Given the description of an element on the screen output the (x, y) to click on. 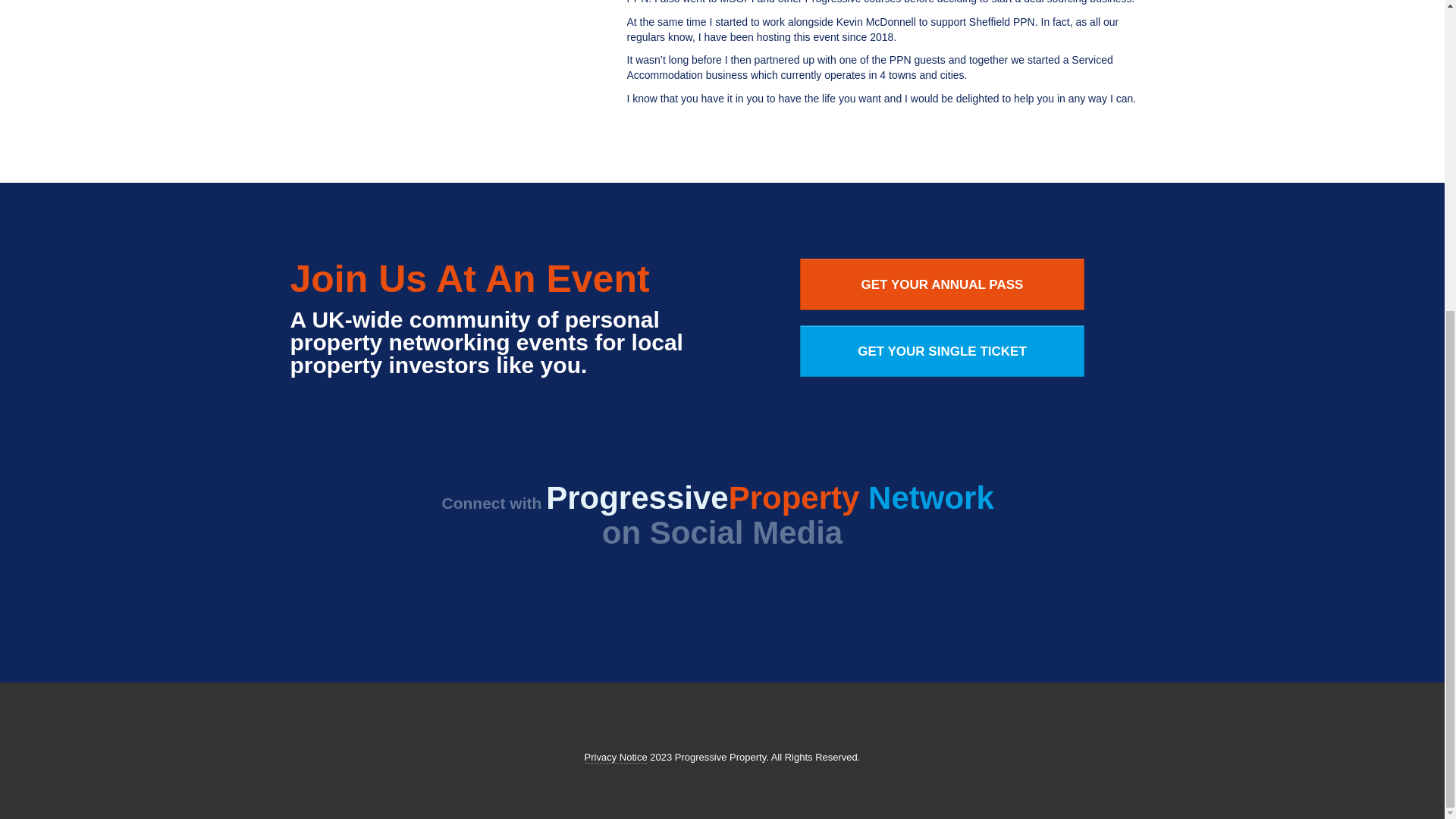
GET YOUR ANNUAL PASS (941, 284)
GET YOUR SINGLE TICKET (941, 350)
Privacy Notice (616, 757)
